Given the description of an element on the screen output the (x, y) to click on. 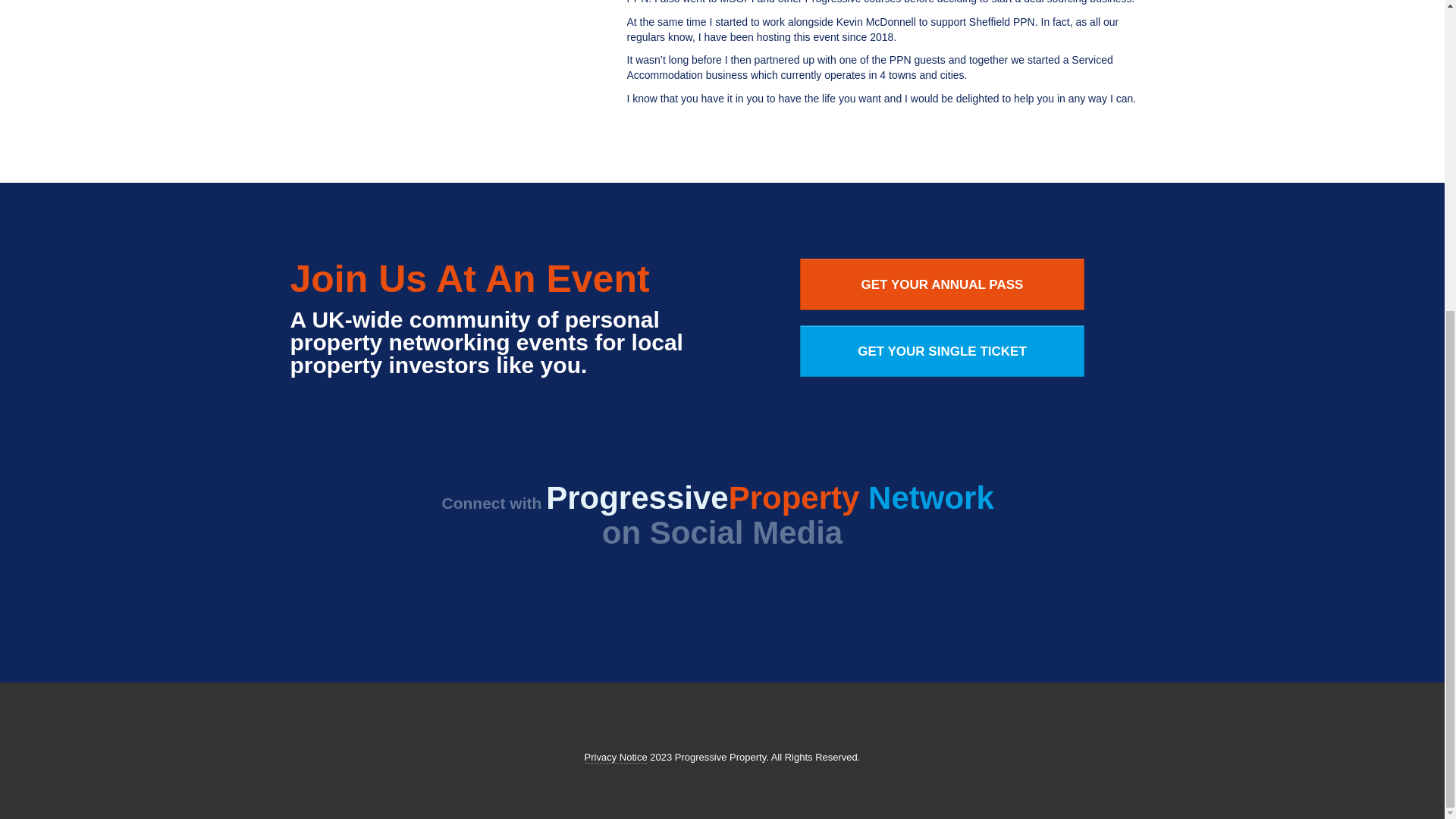
GET YOUR ANNUAL PASS (941, 284)
GET YOUR SINGLE TICKET (941, 350)
Privacy Notice (616, 757)
